Given the description of an element on the screen output the (x, y) to click on. 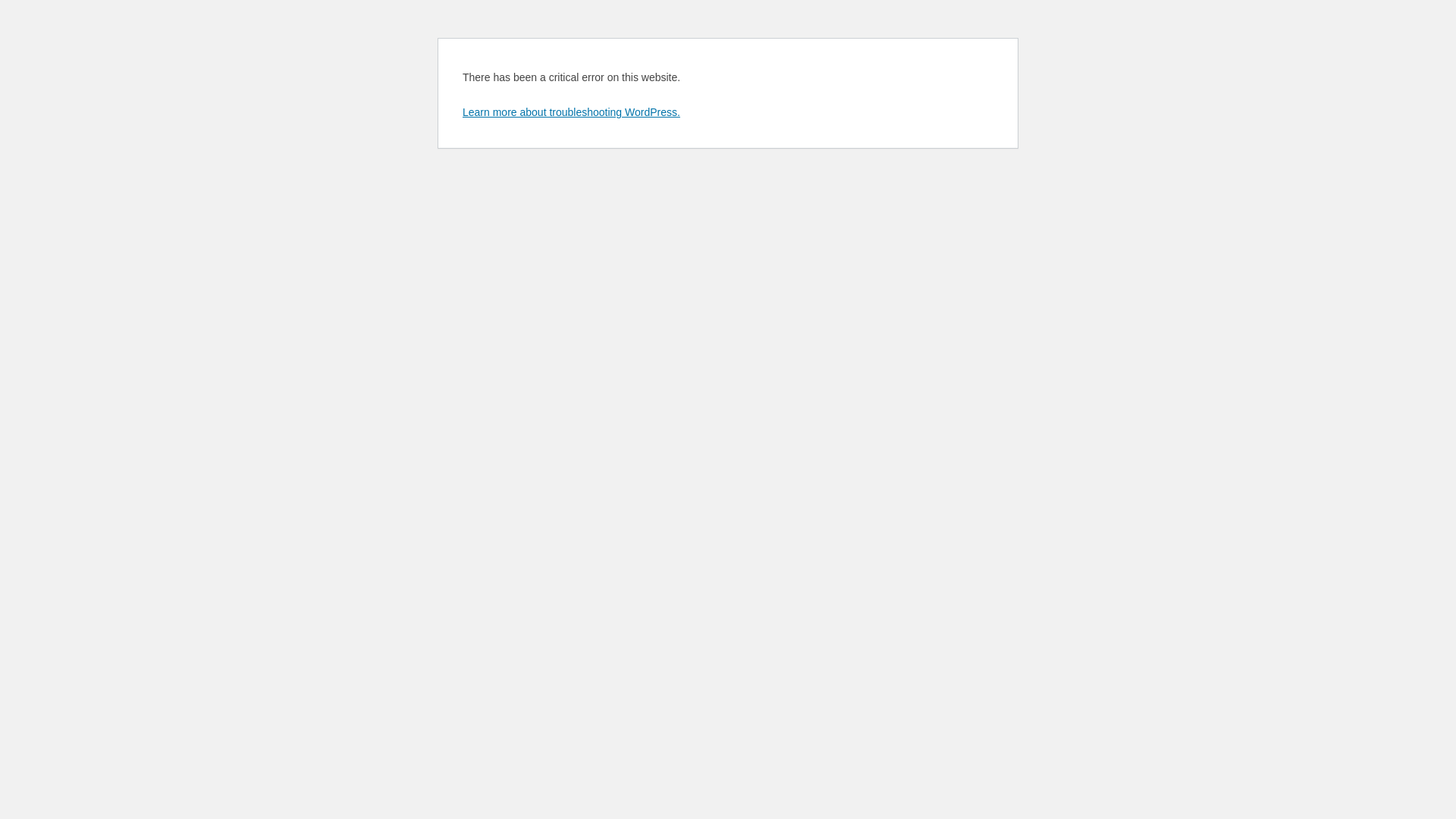
Learn more about troubleshooting WordPress. Element type: text (571, 112)
